Given the description of an element on the screen output the (x, y) to click on. 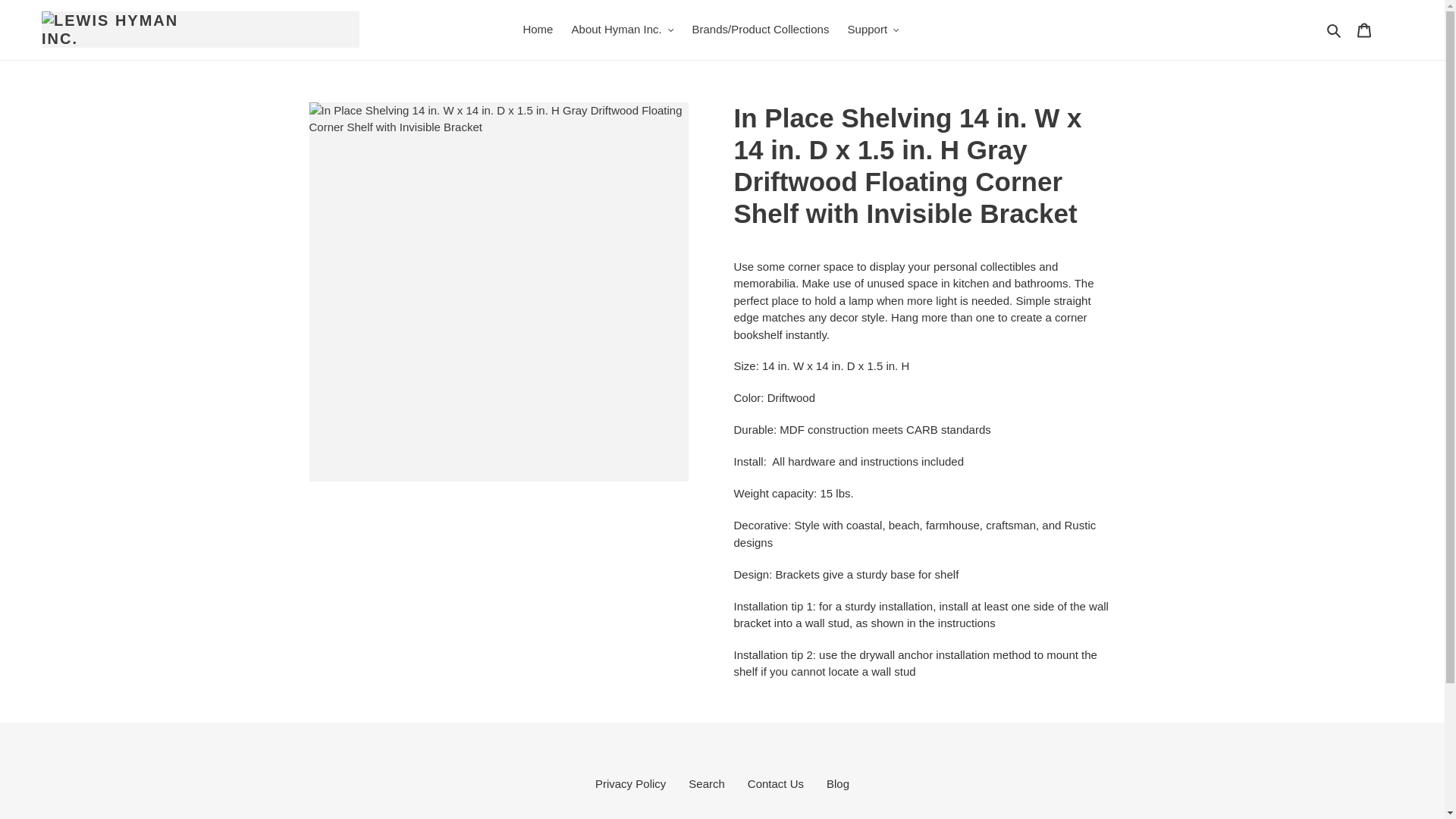
Support (873, 29)
Cart (1364, 29)
Search (1335, 29)
Home (537, 29)
About Hyman Inc. (622, 29)
